Given the description of an element on the screen output the (x, y) to click on. 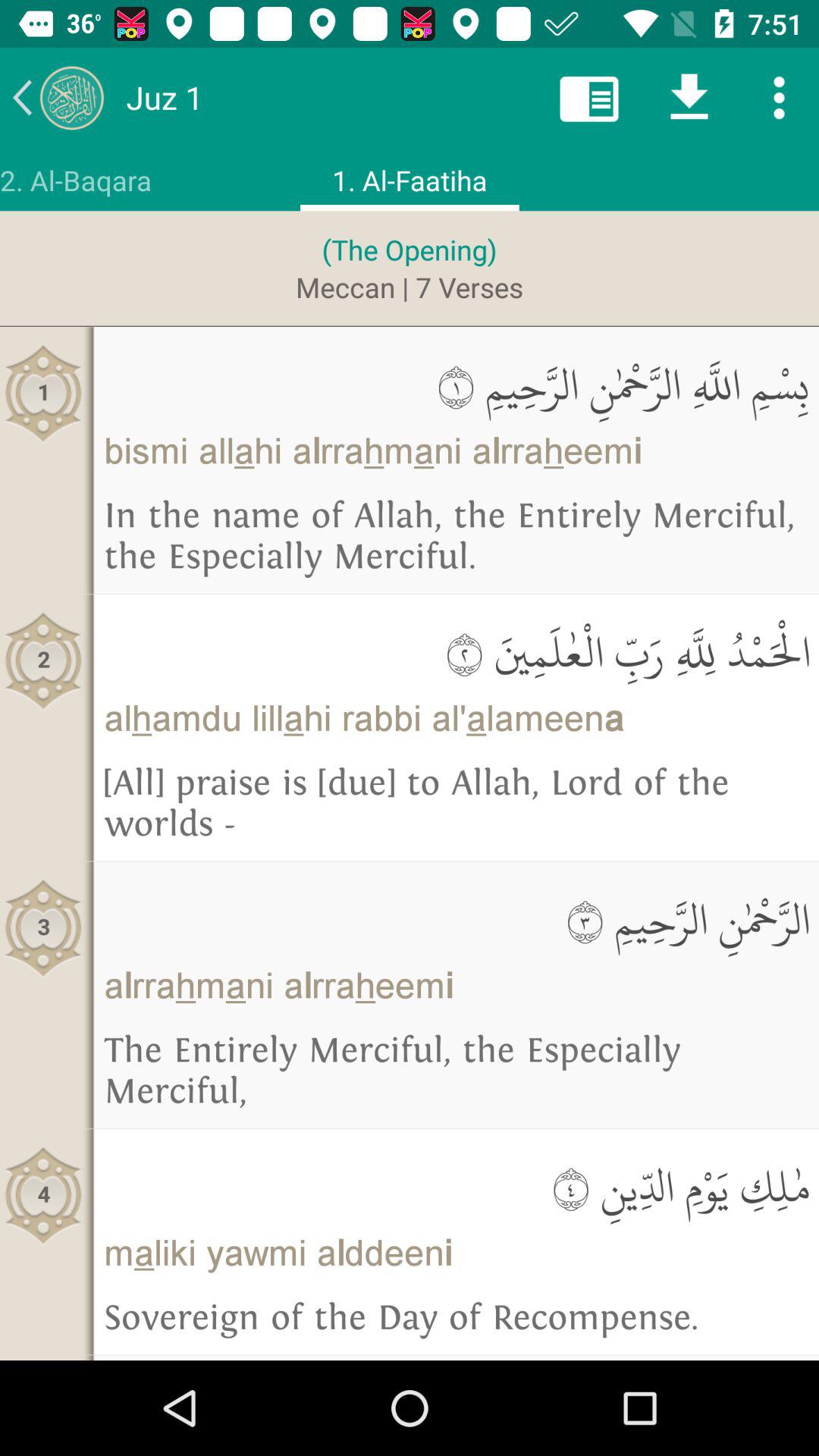
ecilpse (779, 97)
